Given the description of an element on the screen output the (x, y) to click on. 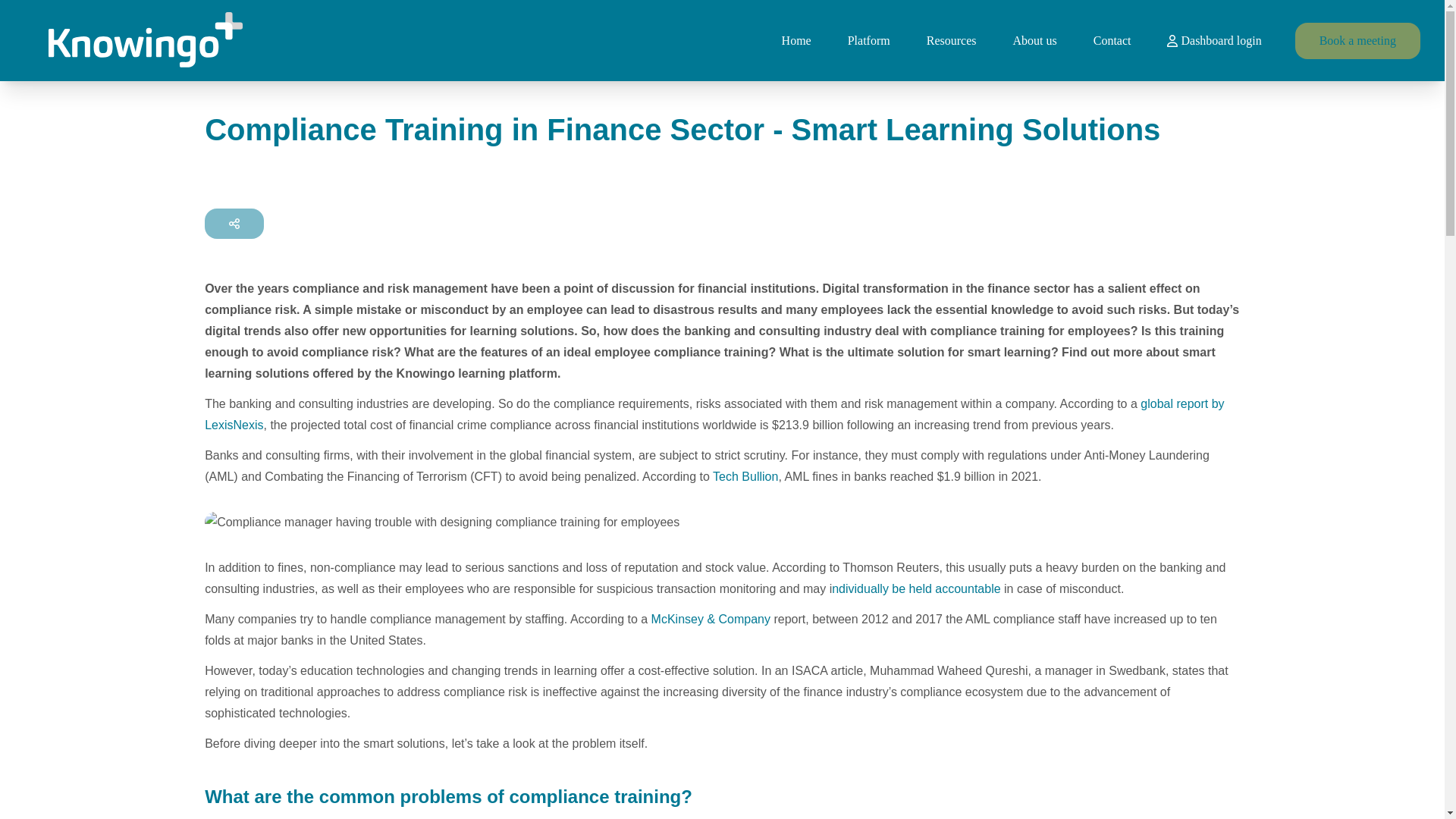
global report by LexisNexis (714, 414)
Tech Bullion (745, 476)
ndividually be held accountable (915, 588)
Book a meeting (1358, 40)
